Given the description of an element on the screen output the (x, y) to click on. 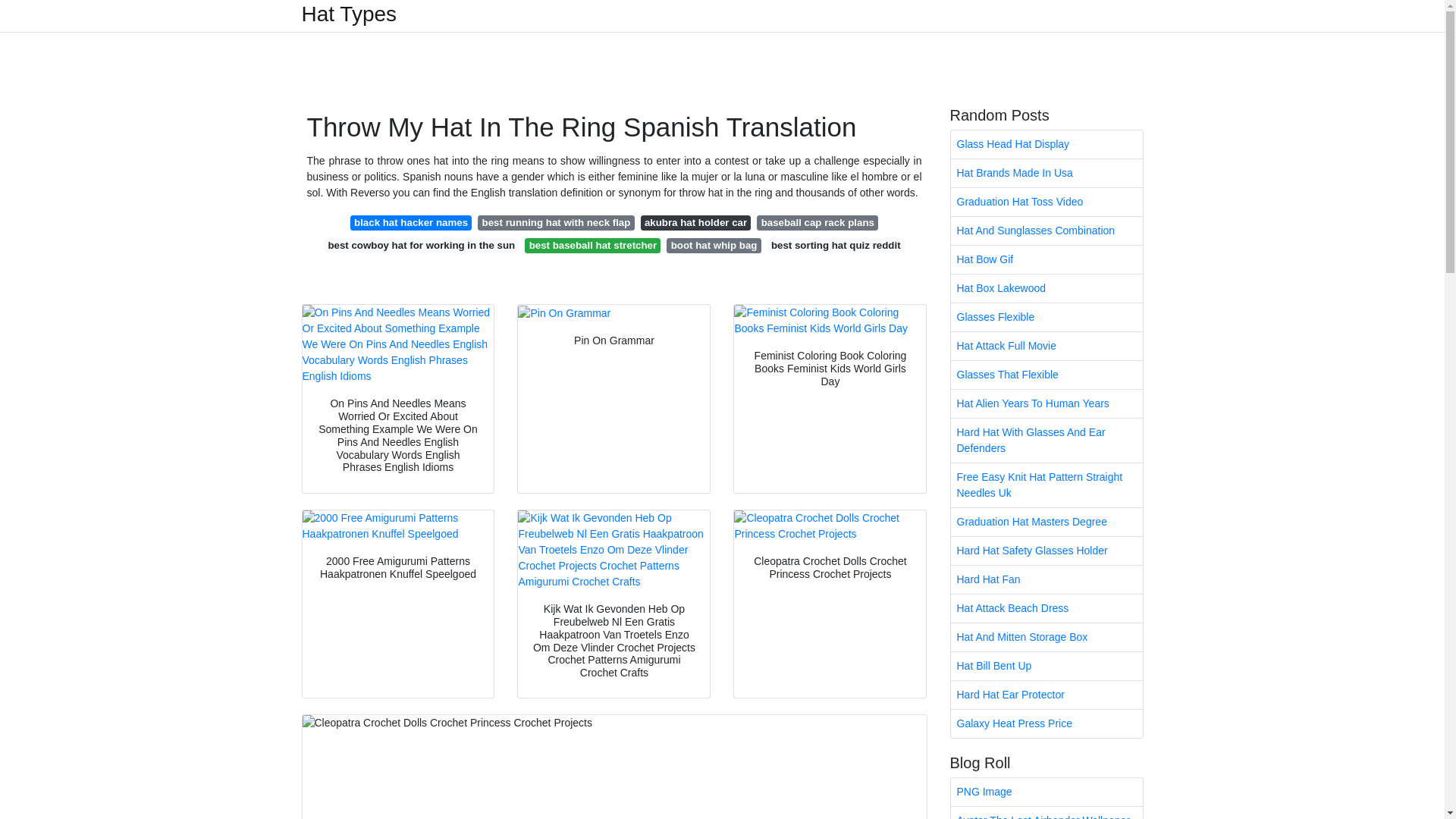
Graduation Hat Toss Video (1046, 202)
akubra hat holder car (695, 222)
baseball cap rack plans (817, 222)
Glasses That Flexible (1046, 375)
Hat Brands Made In Usa (1046, 172)
Hat Attack Full Movie (1046, 346)
best running hat with neck flap (555, 222)
Hat Box Lakewood (1046, 288)
Hat Alien Years To Human Years (1046, 403)
Hat Types (349, 13)
